Given the description of an element on the screen output the (x, y) to click on. 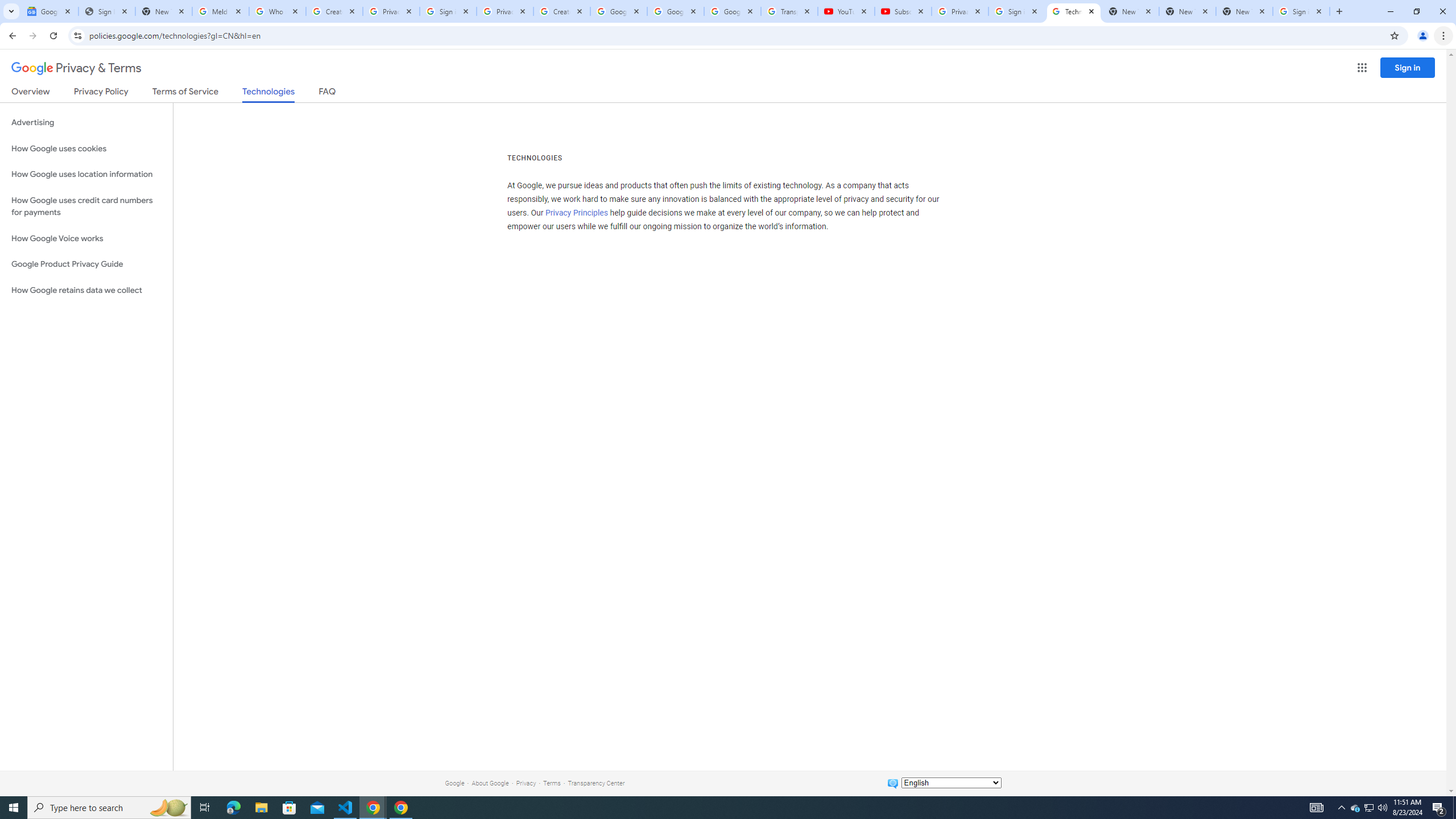
Google News (49, 11)
Sign in - Google Accounts (1301, 11)
New Tab (1244, 11)
Google Account (731, 11)
